Given the description of an element on the screen output the (x, y) to click on. 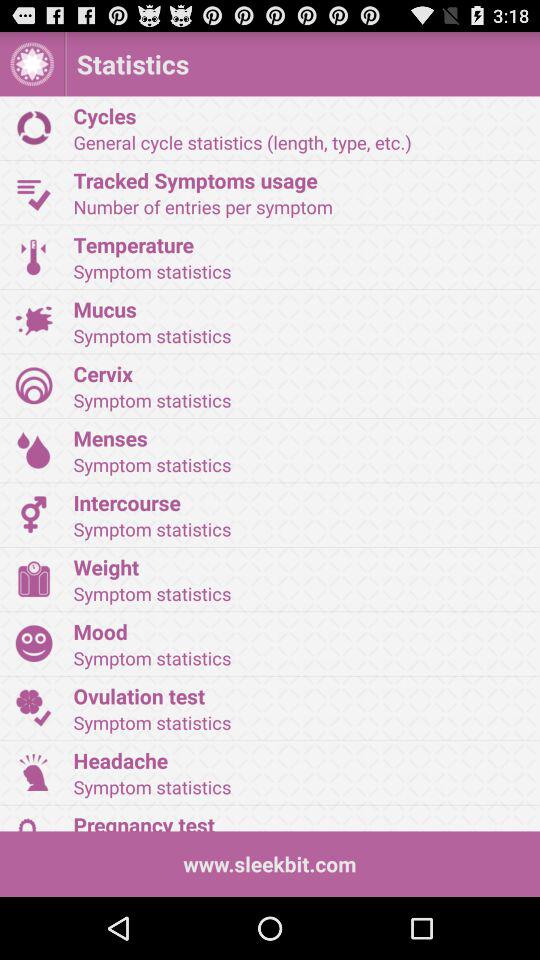
flip to ovulation test (299, 695)
